Given the description of an element on the screen output the (x, y) to click on. 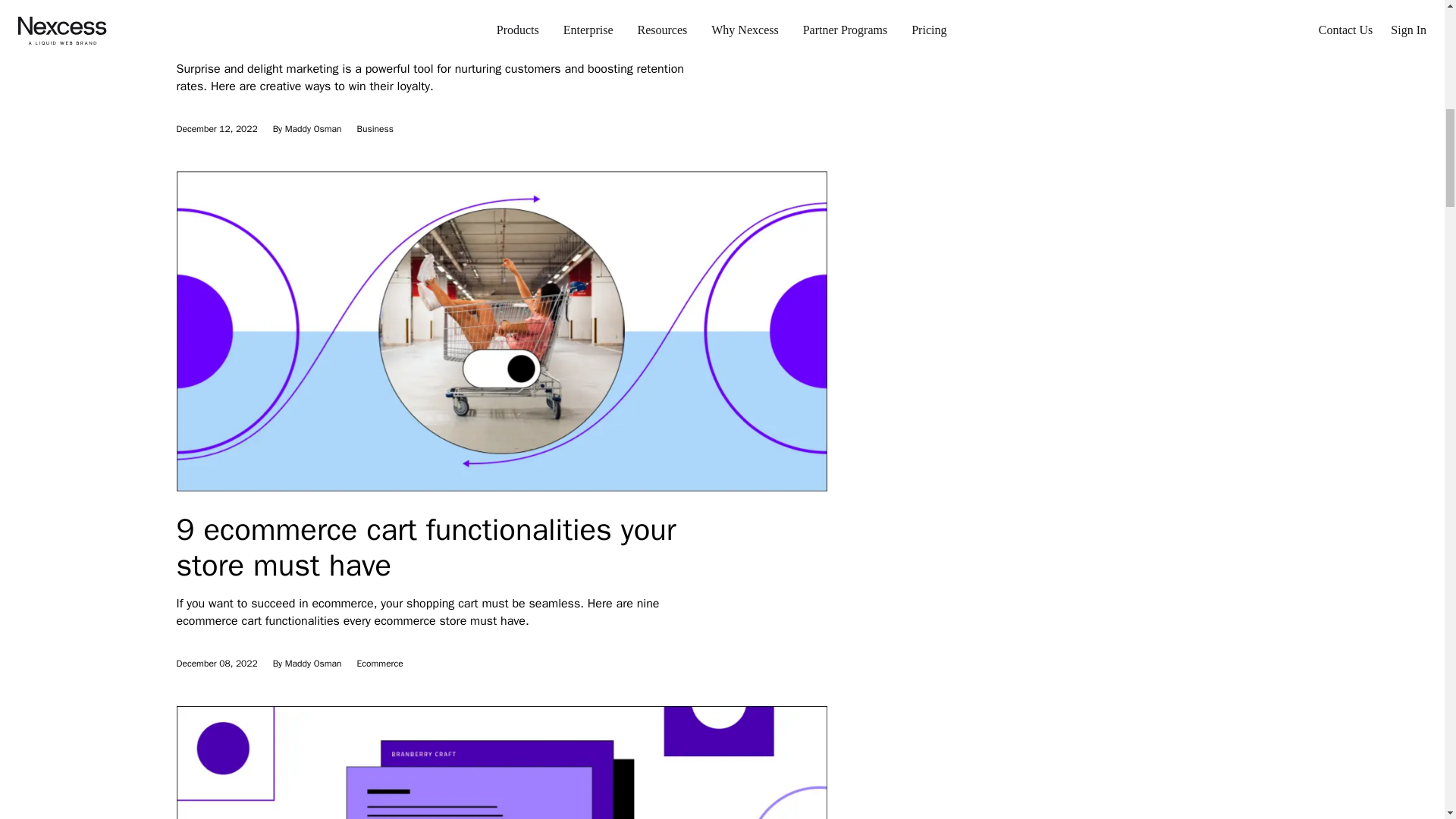
9 ecommerce cart functionalities your store must have (425, 546)
Maddy Osman (313, 663)
Ecommerce (379, 663)
Business (374, 128)
Maddy Osman (313, 128)
